Given the description of an element on the screen output the (x, y) to click on. 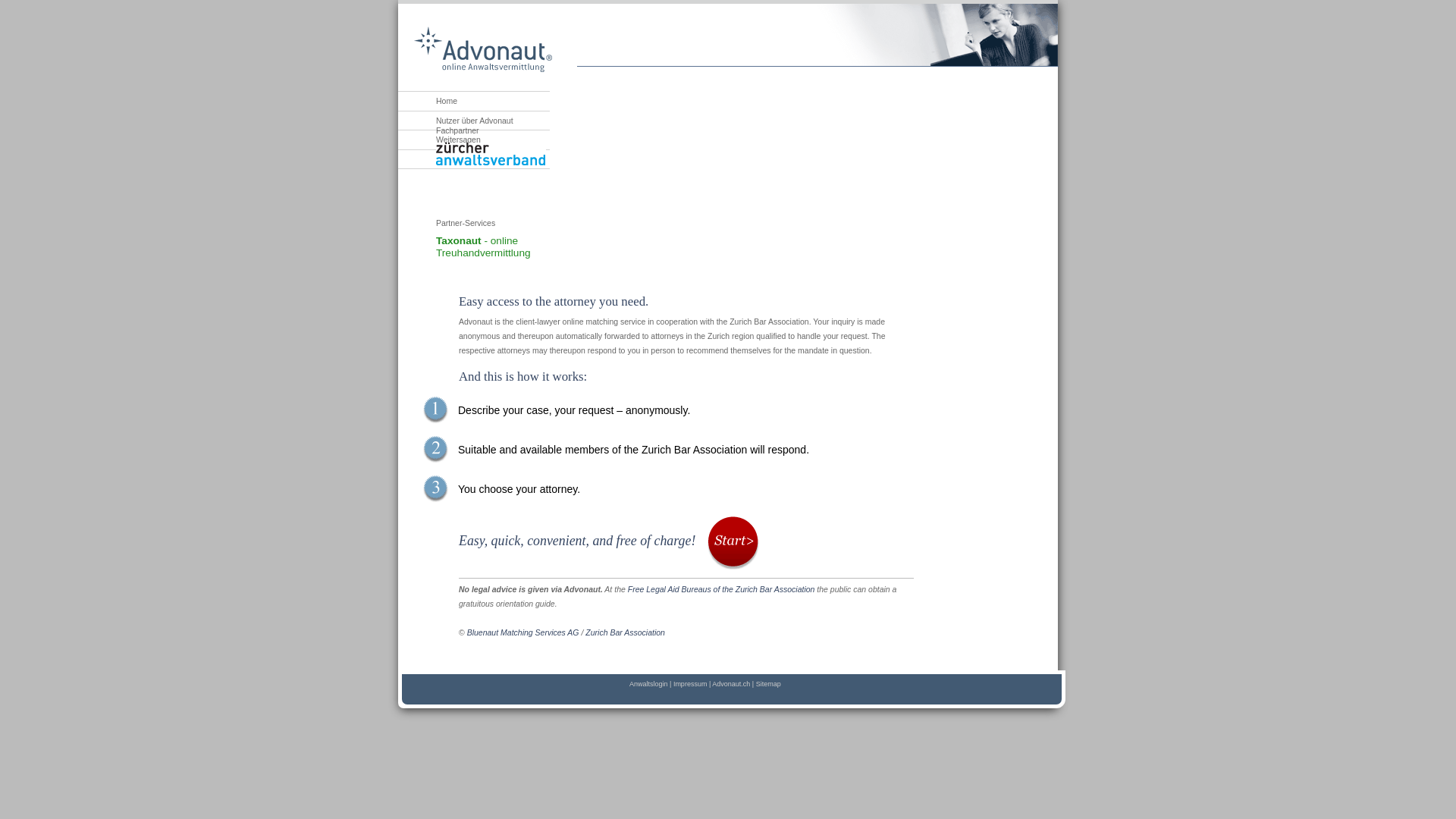
Anwaltslogin Element type: text (648, 683)
Sitemap Element type: text (768, 683)
Taxonaut - online Treuhandvermittlung Element type: text (483, 246)
Impressum Element type: text (690, 683)
Free Legal Aid Bureaus of the Zurich Bar Association Element type: text (721, 588)
Advonaut.ch Element type: text (730, 683)
Bluenaut Matching Services AG Element type: text (523, 632)
Zurich Bar Association Element type: text (625, 632)
Kontakt Element type: text (430, 159)
Home Element type: text (427, 101)
Weitersagen Element type: text (439, 139)
Partner-Services Element type: text (492, 222)
Advonaut. Sicher zum richtigen Anwalt. Element type: hover (483, 49)
